Given the description of an element on the screen output the (x, y) to click on. 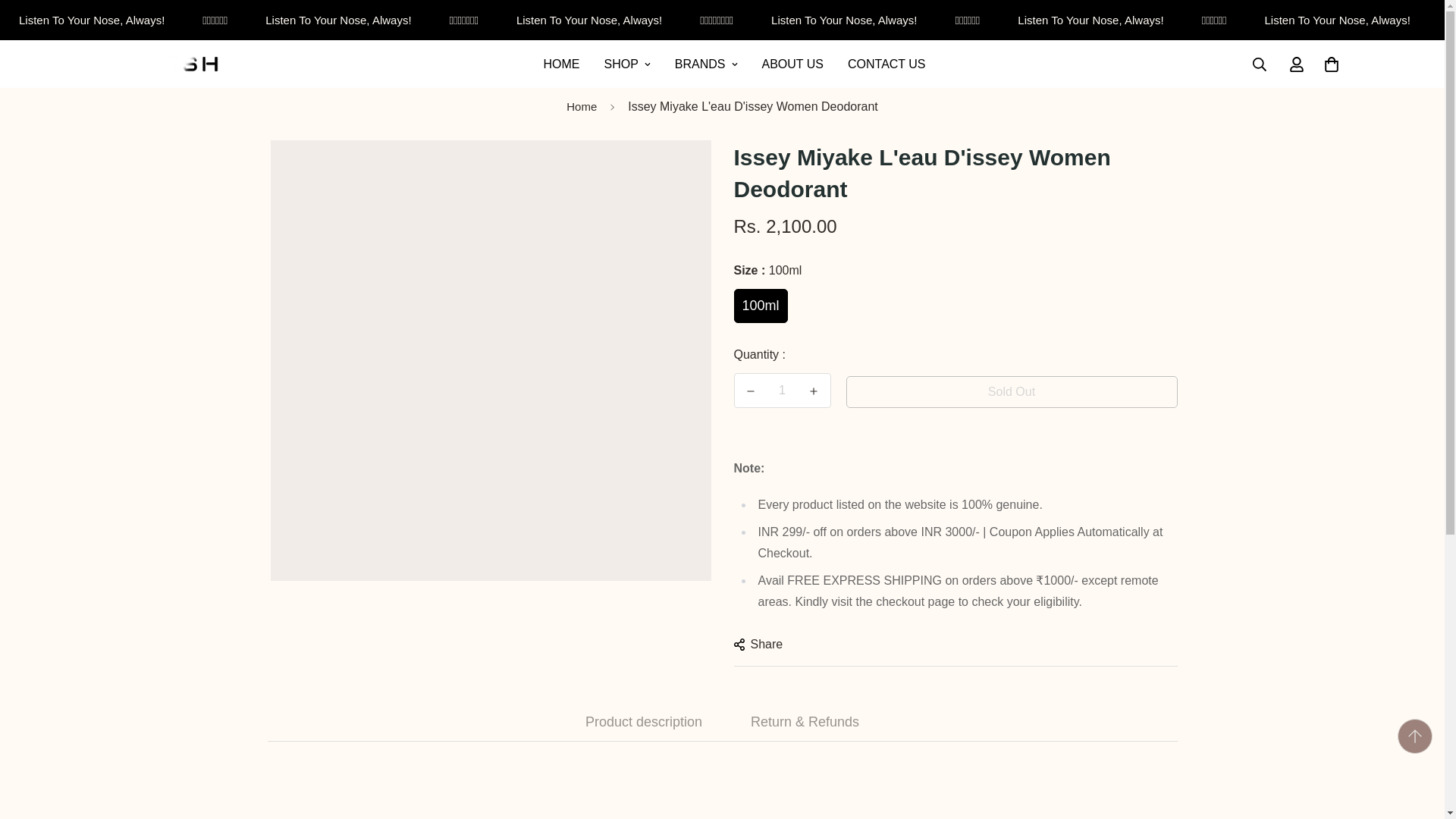
Back to the home page (581, 107)
Belvish (161, 63)
1 (782, 390)
HOME (561, 63)
BRANDS (734, 63)
SHOP (733, 63)
